Given the description of an element on the screen output the (x, y) to click on. 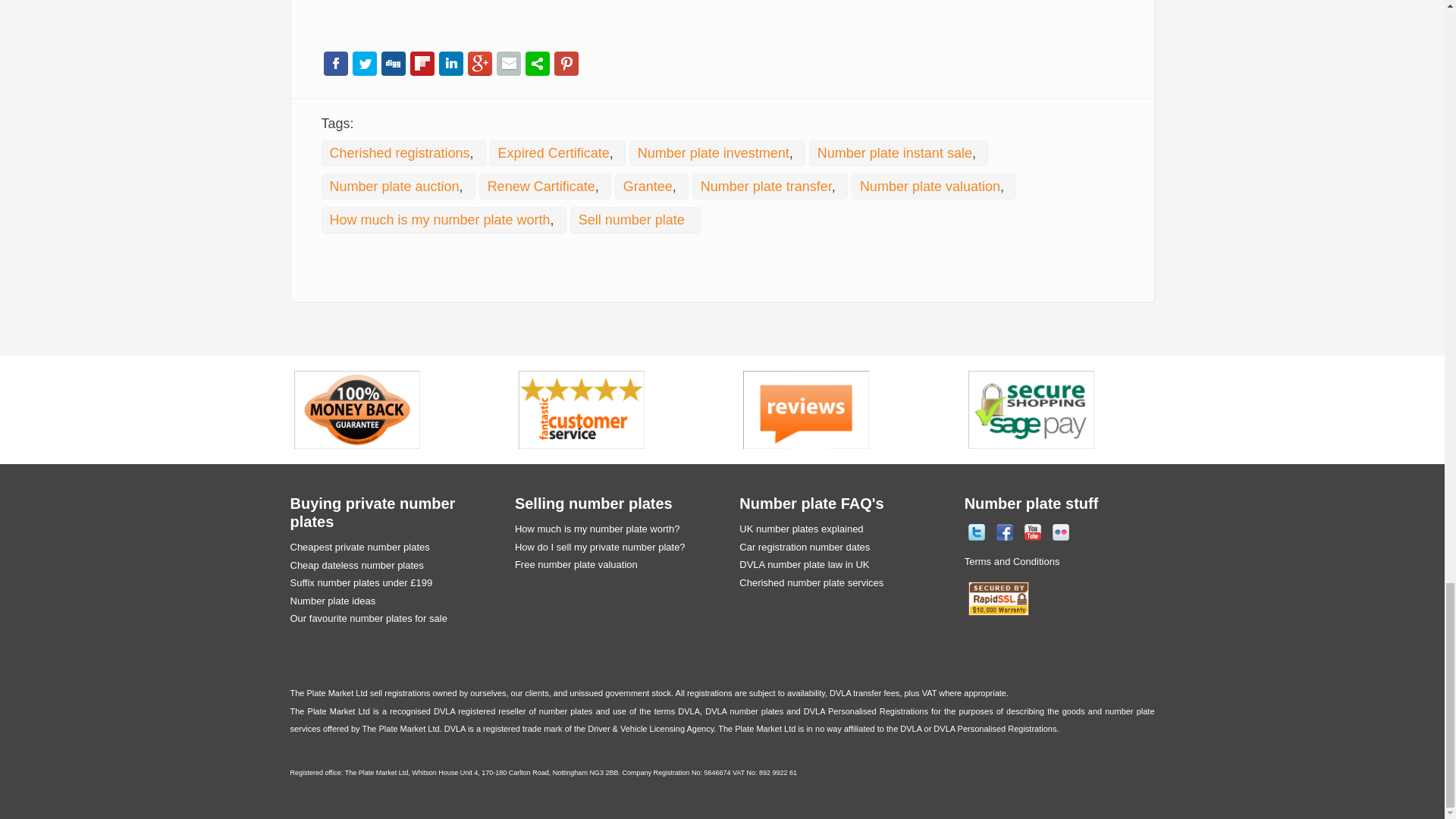
Sell number plate (631, 219)
Number plate ideas (332, 600)
Renew Cartificate (541, 186)
Number plate instant sale (894, 152)
Cheap dateless number plates (356, 564)
Number plate auction (393, 186)
Cheapest private number plates (359, 546)
Number plate transfer (765, 186)
Number plate valuation (930, 186)
Our favourite number plates for sale (367, 617)
